Given the description of an element on the screen output the (x, y) to click on. 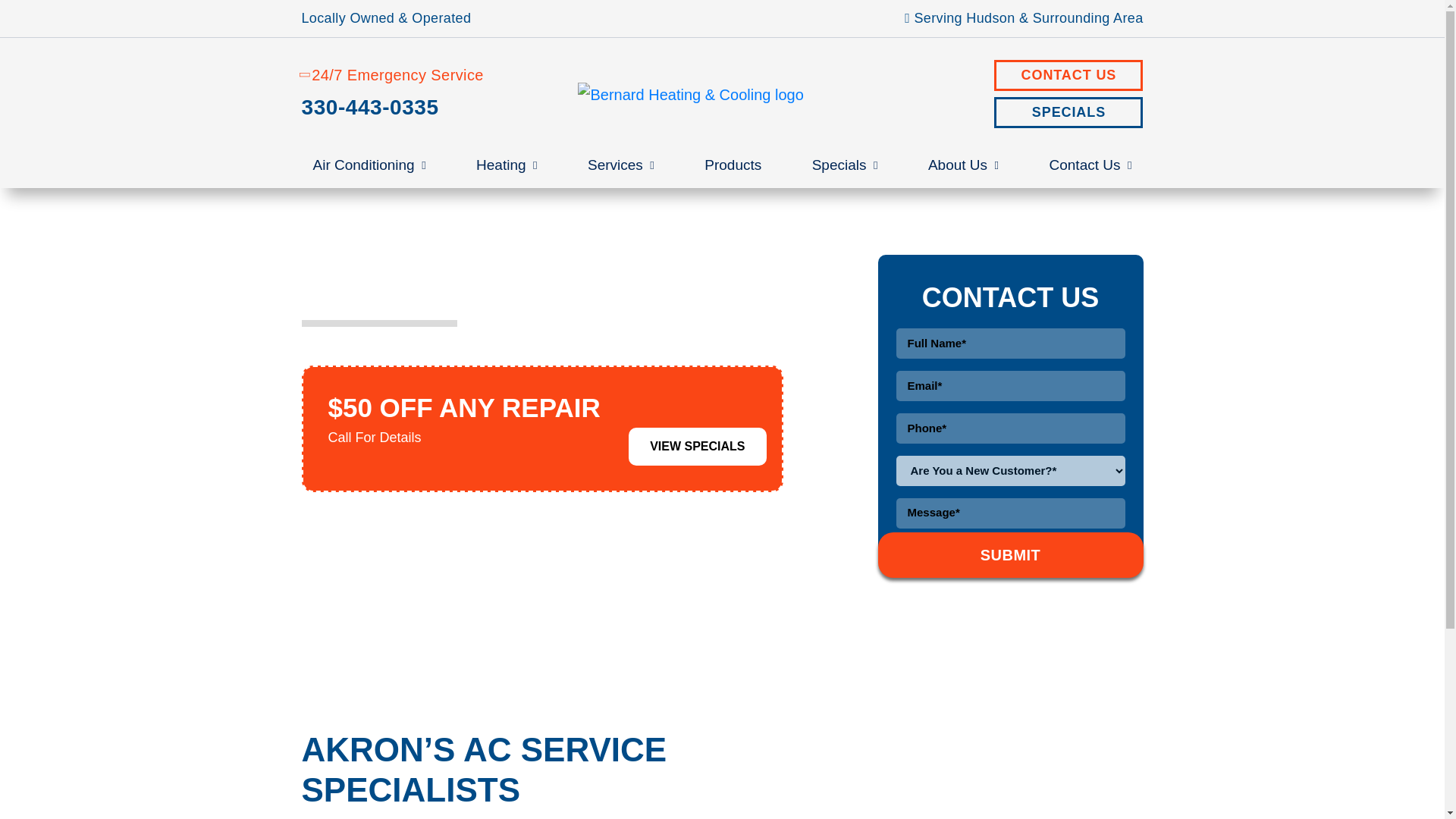
Submit (1009, 555)
Specials (844, 165)
CONTACT US (1068, 74)
About Us (963, 165)
Air Conditioning (369, 165)
Heating (506, 165)
Products (733, 165)
330-443-0335 (434, 107)
SPECIALS (1068, 112)
Submit (1009, 555)
VIEW SPECIALS (696, 446)
Contact Us (1089, 165)
Services (620, 165)
